Given the description of an element on the screen output the (x, y) to click on. 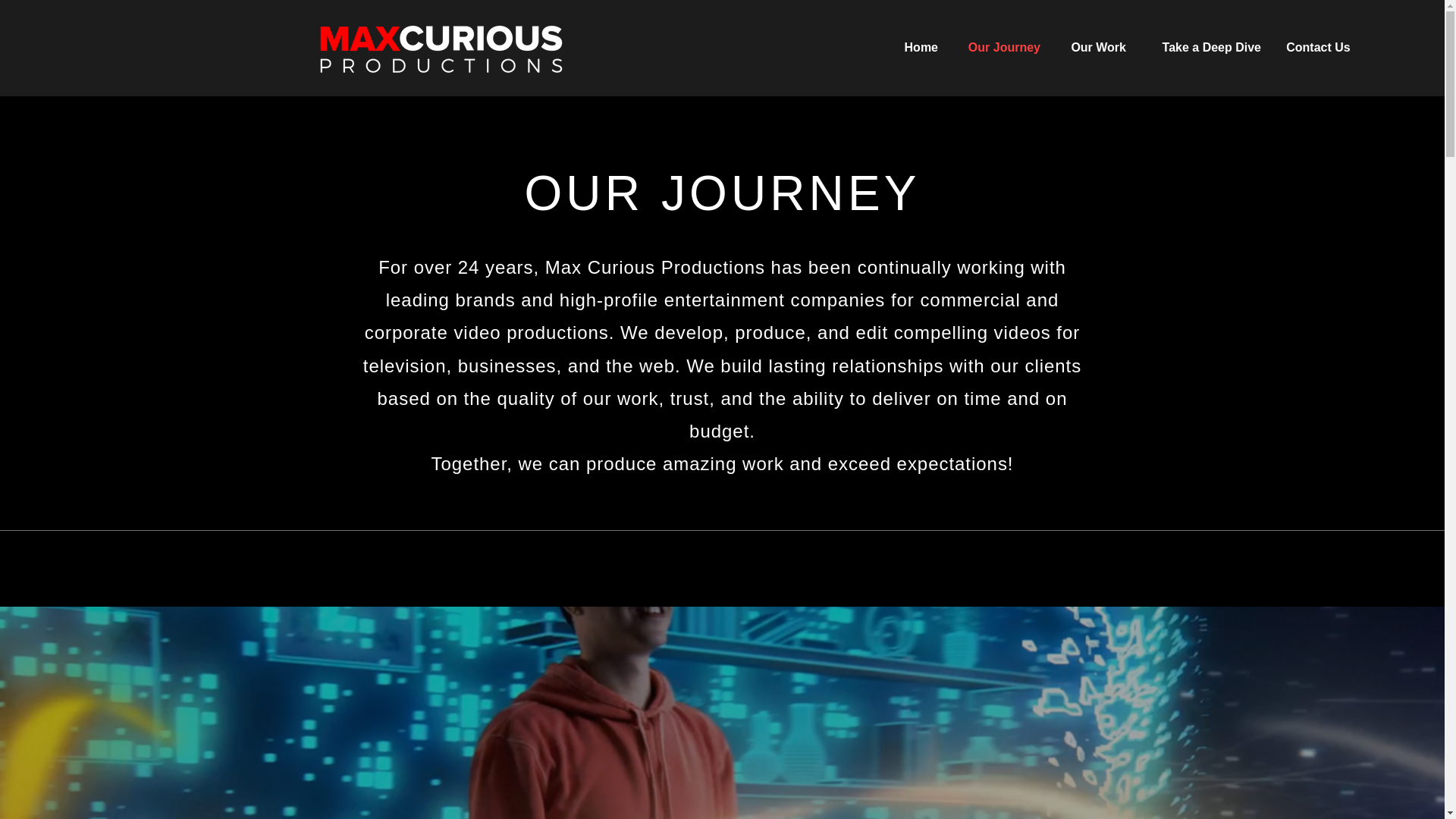
Our Journey (1000, 47)
Contact Us (1318, 47)
Take a Deep Dive (1204, 47)
Home (918, 47)
